Given the description of an element on the screen output the (x, y) to click on. 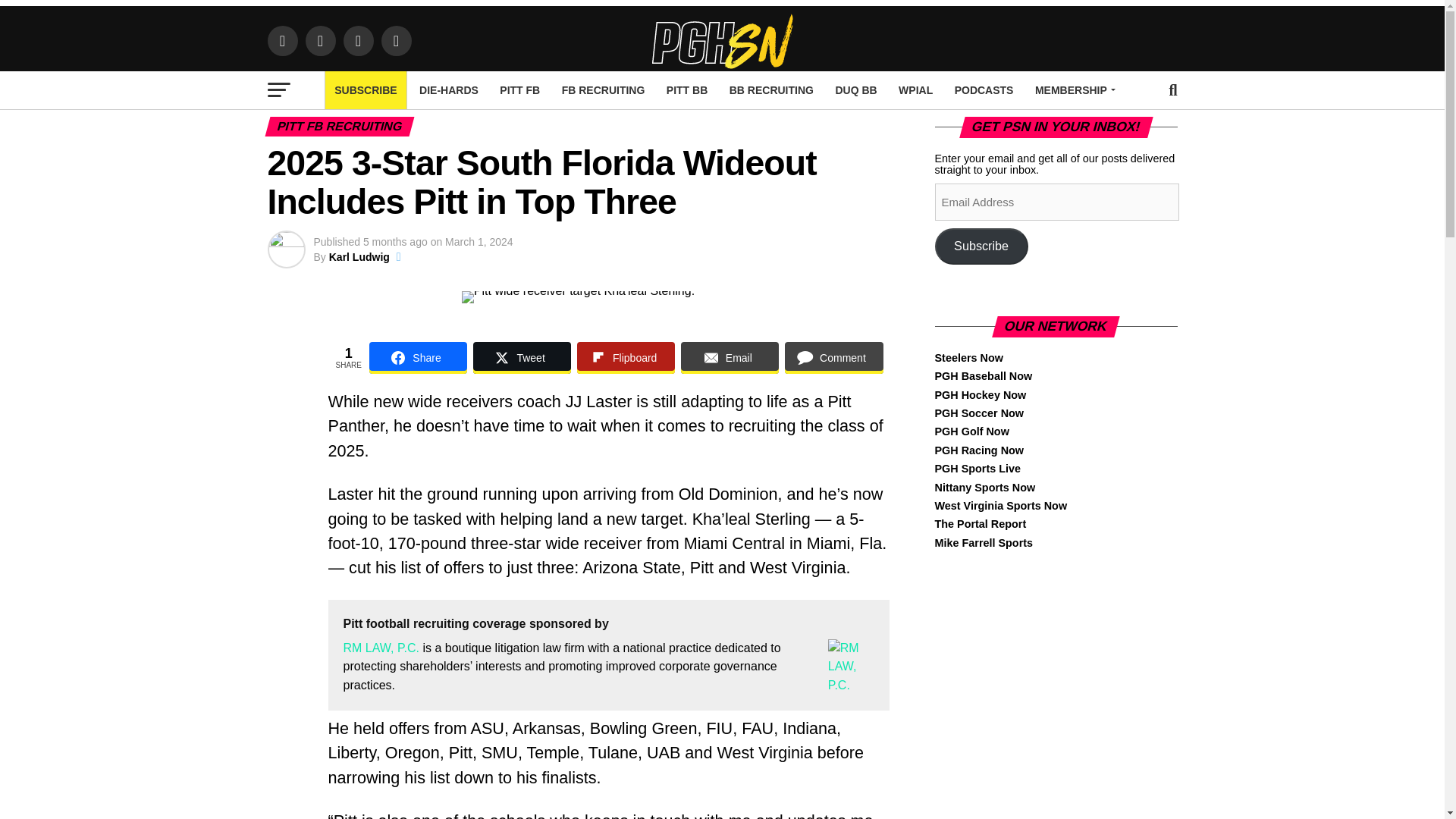
Share on Email (729, 357)
Share on Share (418, 357)
Posts by Karl Ludwig (359, 256)
Share on Tweet (521, 357)
Share on Comment (833, 357)
Share on Flipboard (625, 357)
